Given the description of an element on the screen output the (x, y) to click on. 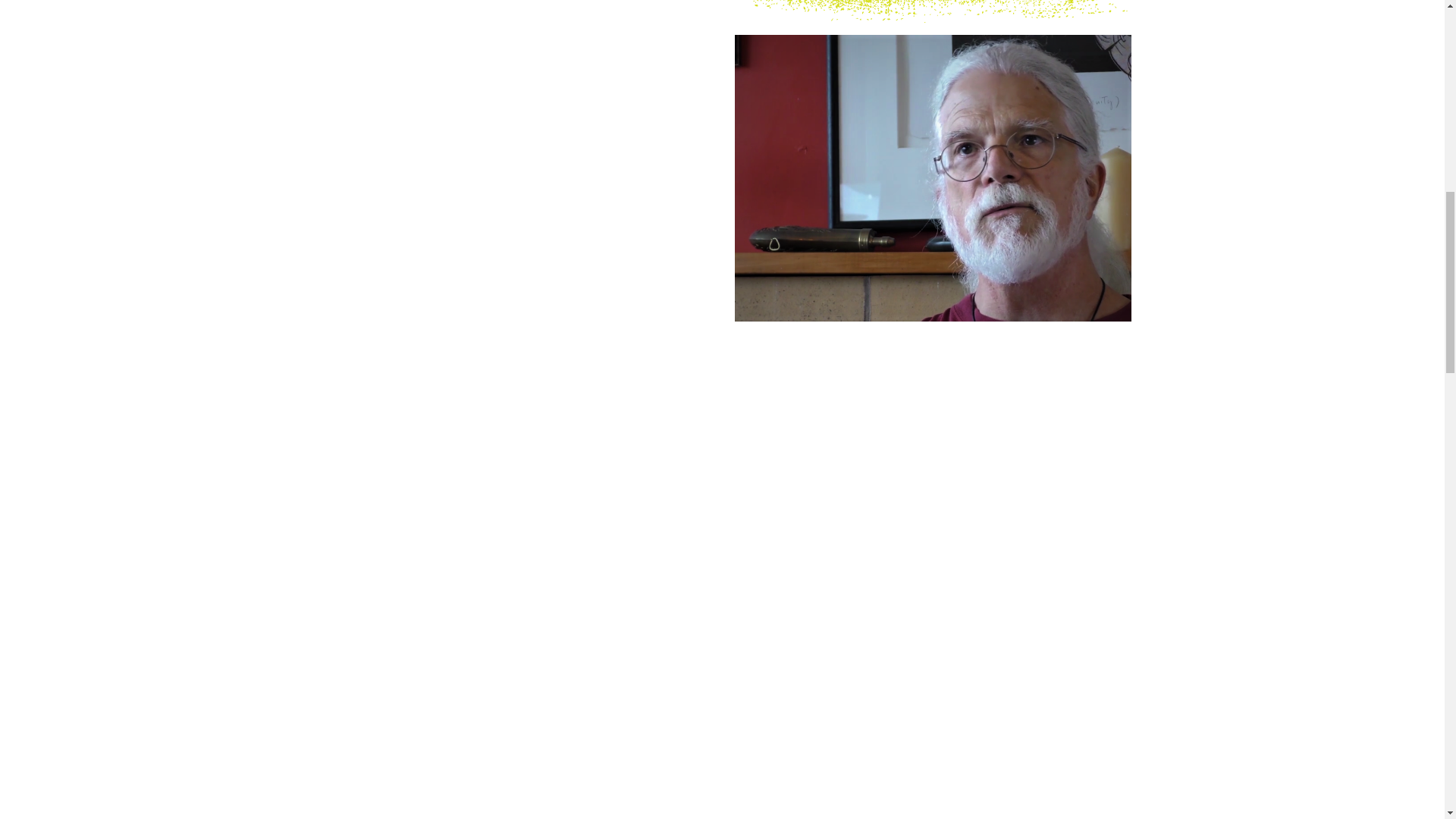
Follow on Vimeo (1118, 346)
Follow on Facebook (1088, 346)
